Given the description of an element on the screen output the (x, y) to click on. 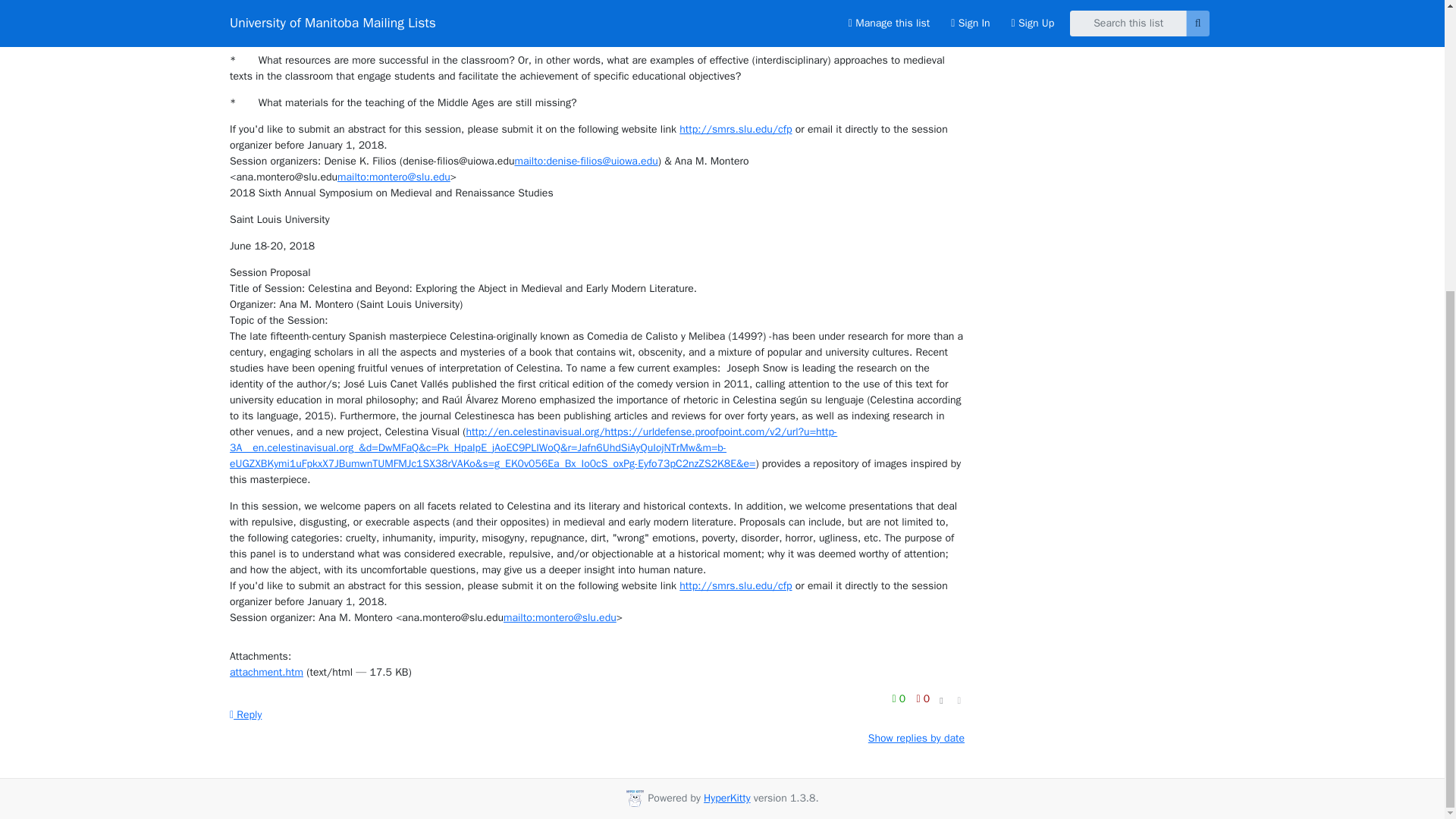
Sign in to reply online (246, 714)
Show replies by date (915, 738)
Reply (246, 714)
You must be logged-in to vote. (900, 698)
You must be logged-in to vote. (922, 698)
attachment.htm (266, 671)
HyperKitty (727, 797)
0 (900, 698)
0 (922, 698)
